Given the description of an element on the screen output the (x, y) to click on. 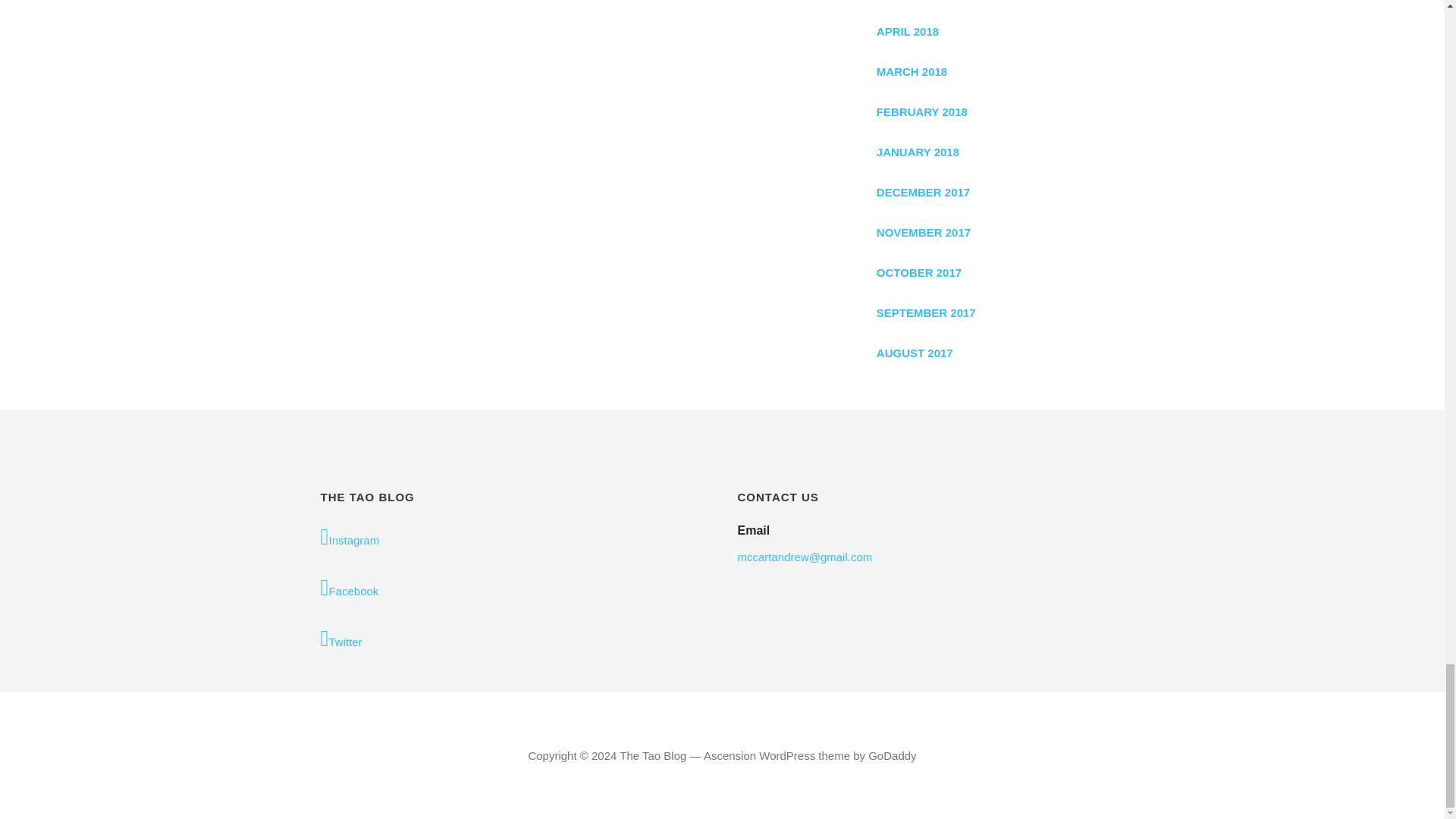
Visit The Tao Blog on Twitter (513, 639)
Visit The Tao Blog on Instagram (513, 538)
Visit The Tao Blog on Facebook (513, 588)
